Given the description of an element on the screen output the (x, y) to click on. 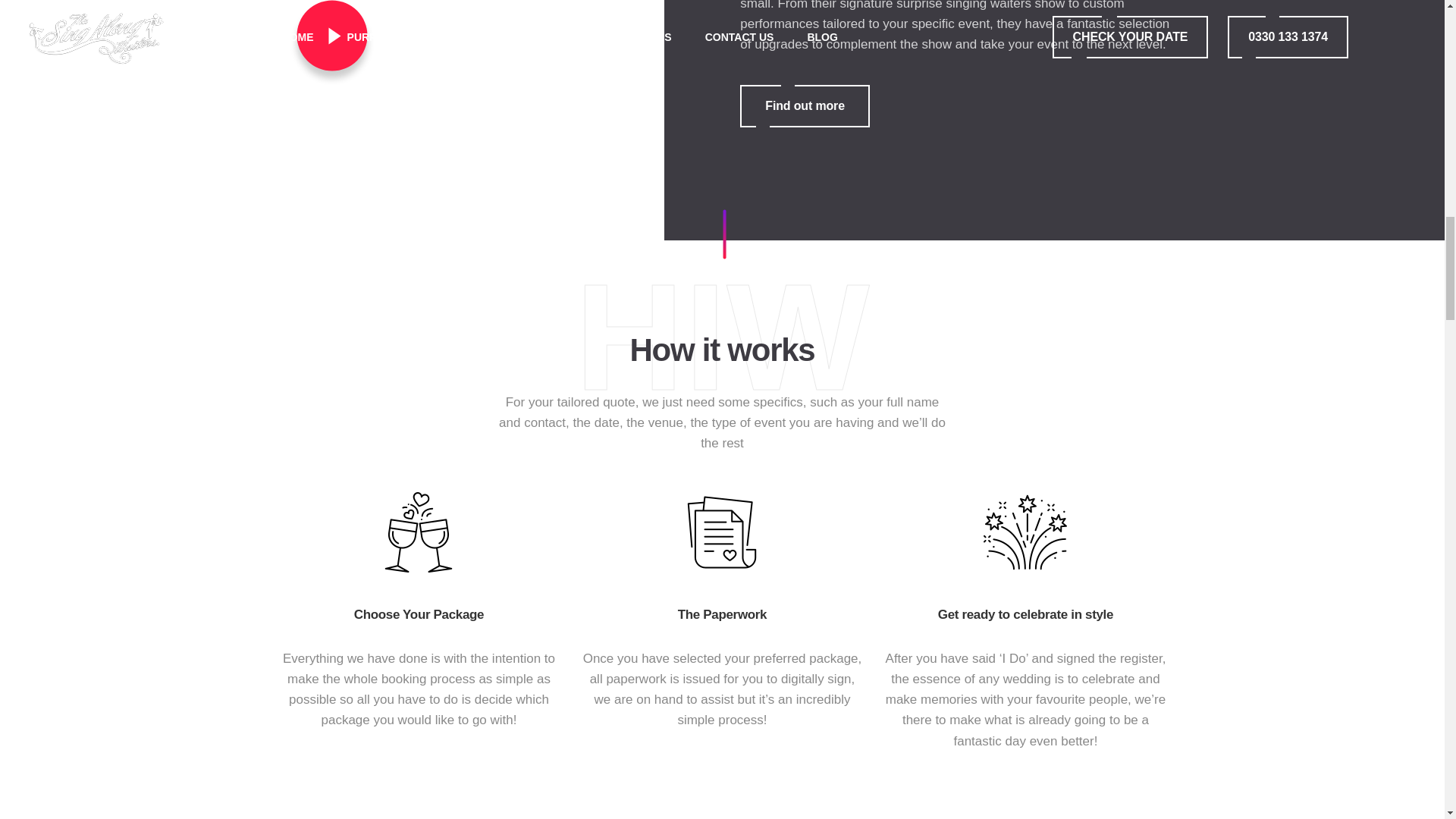
Surprise Shows Champagne Icon (804, 106)
Surprise Shows Fireworks Party Icon (418, 532)
Surprise Shows Love Letter Icon (1025, 532)
